Given the description of an element on the screen output the (x, y) to click on. 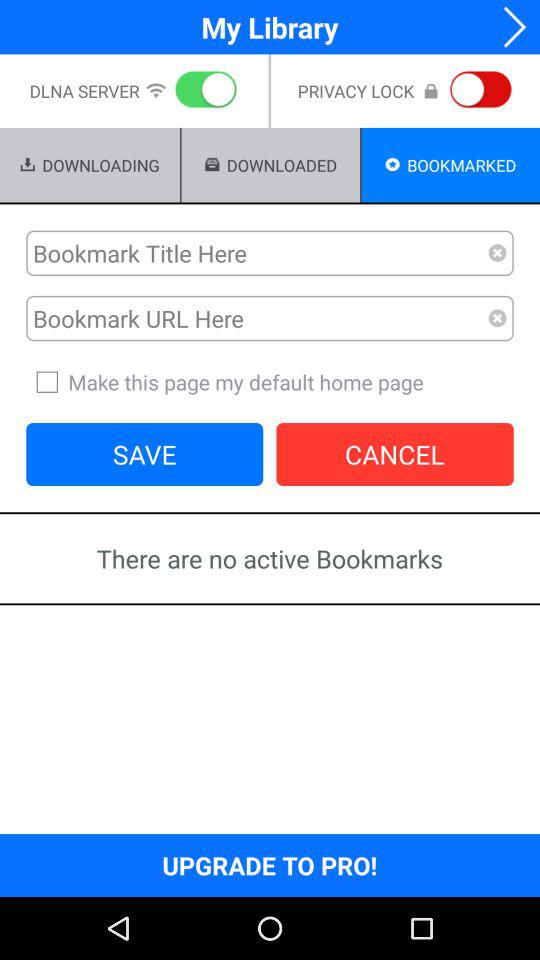
the icon show to goto previous page (508, 26)
